Given the description of an element on the screen output the (x, y) to click on. 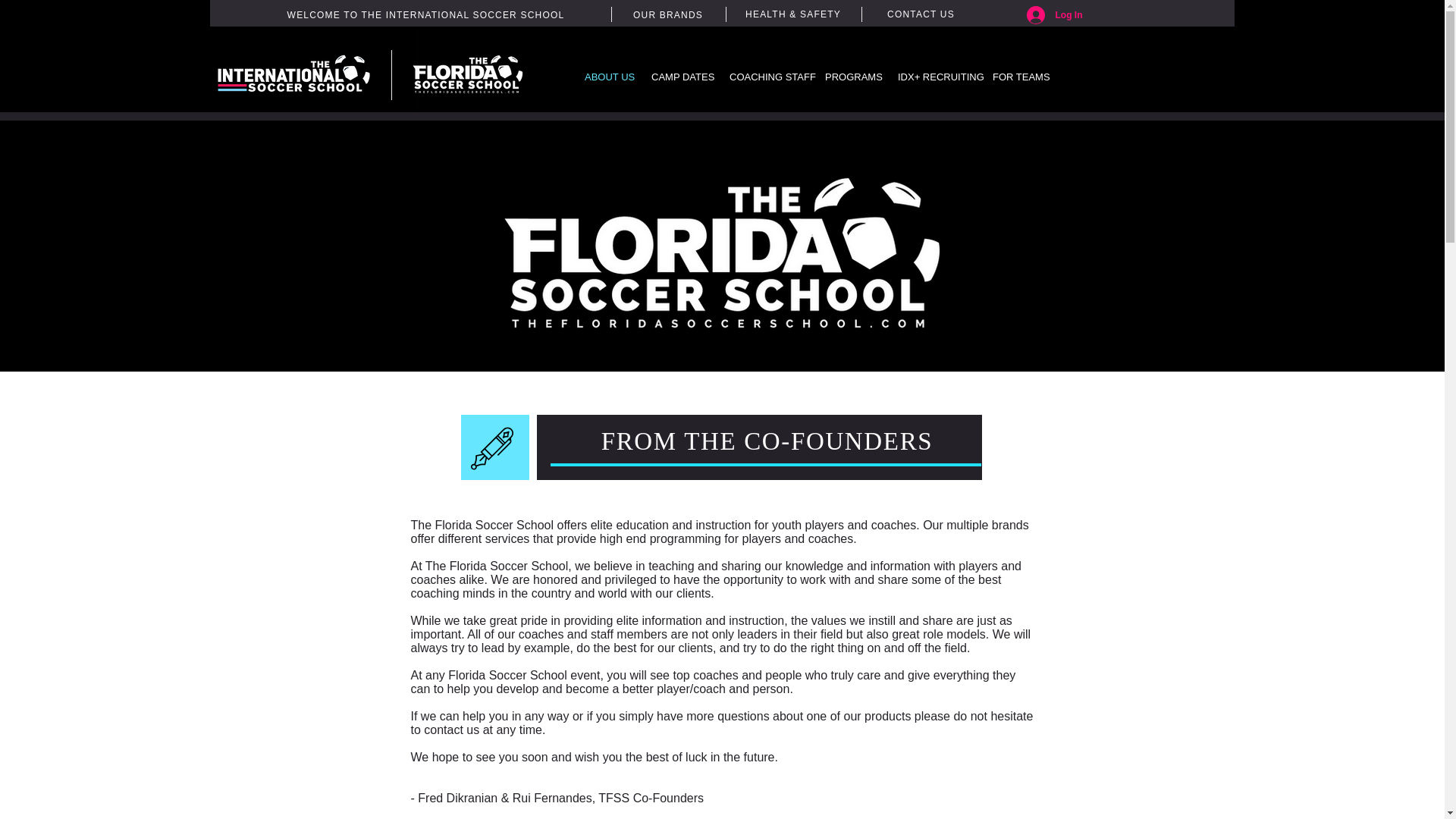
OUR BRANDS (668, 14)
WELCOME TO THE INTERNATIONAL SOCCER SCHOOL (425, 14)
CONTACT US (920, 14)
CAMP DATES (678, 77)
Log In (1054, 14)
COACHING STAFF (765, 77)
ABOUT US (606, 77)
